Given the description of an element on the screen output the (x, y) to click on. 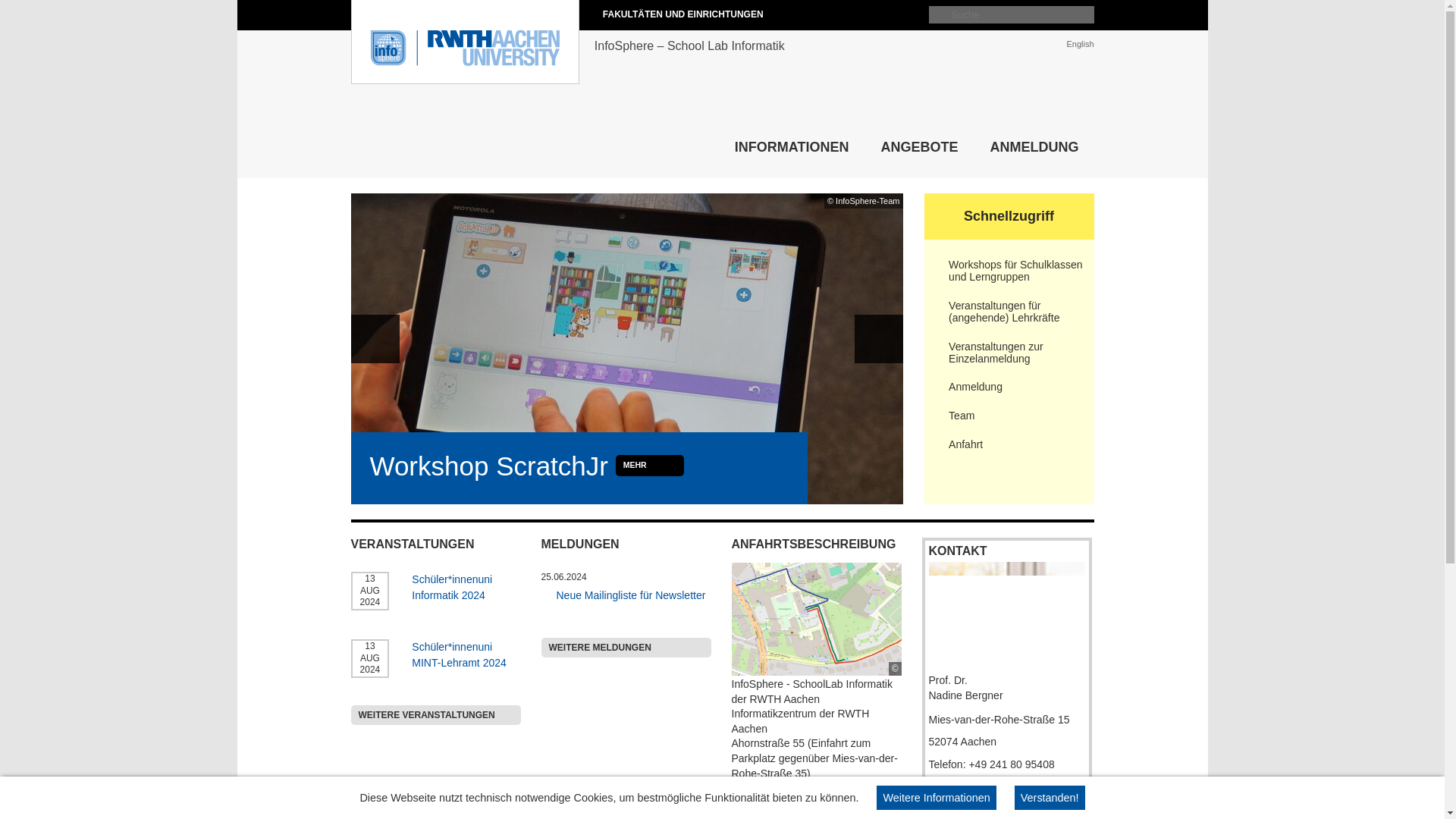
Workshop ScratchJr (488, 465)
INFORMATIONEN (791, 147)
ANMELDUNG (1034, 147)
Weitere Informationen (935, 797)
MEHR (649, 465)
Suchen (893, 392)
ANGEBOTE (918, 147)
Verstanden! (1049, 797)
English (1079, 43)
